Given the description of an element on the screen output the (x, y) to click on. 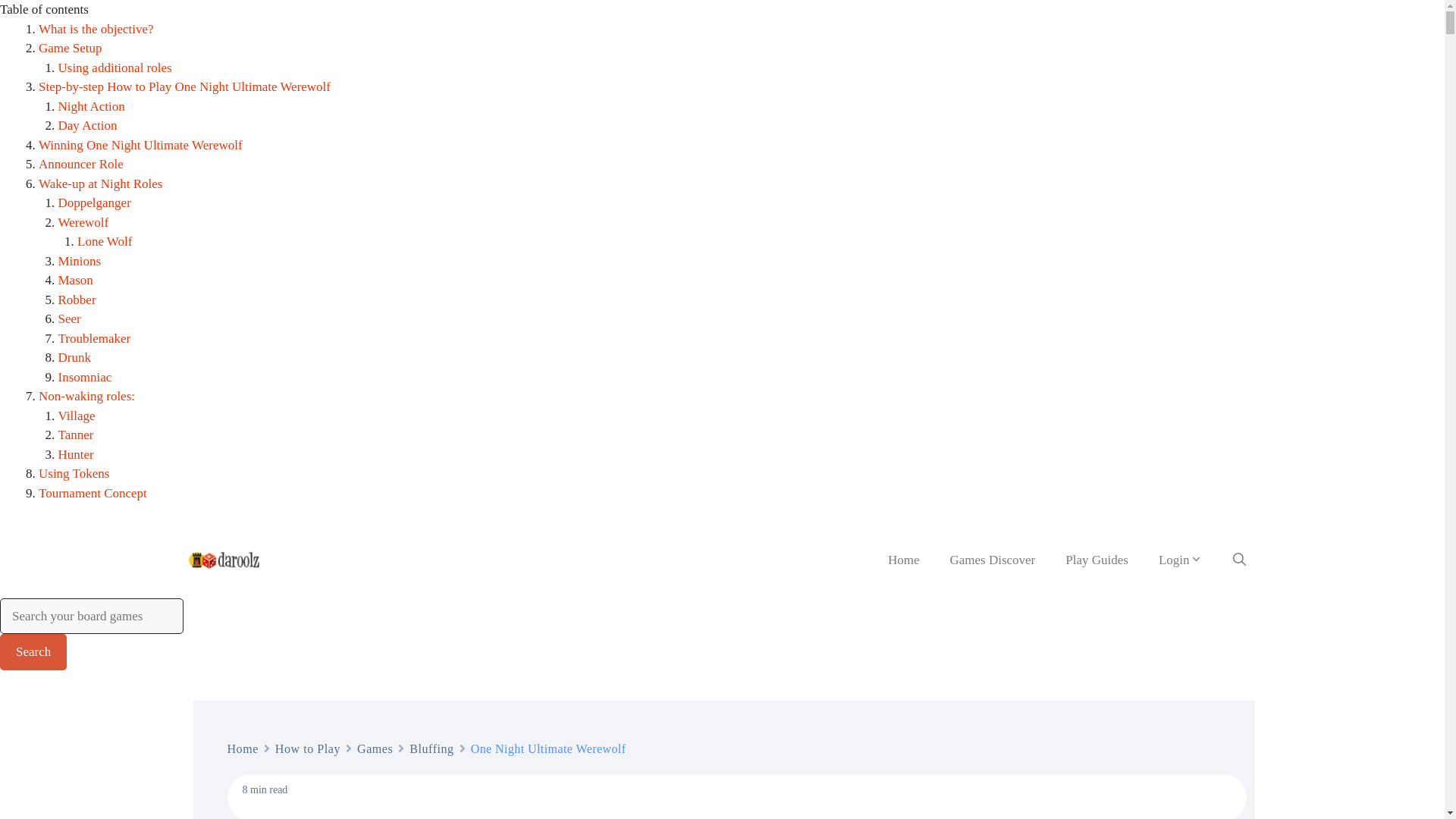
Minions (79, 260)
Seer (69, 318)
Drunk (74, 357)
Search (33, 651)
Search (33, 651)
Werewolf (82, 222)
Robber (77, 299)
Home (243, 748)
Village (76, 414)
Day Action (87, 124)
Non-waking roles: (87, 396)
Insomniac (85, 377)
Winning One Night Ultimate Werewolf (141, 145)
Night Action (90, 105)
Minions (79, 260)
